Given the description of an element on the screen output the (x, y) to click on. 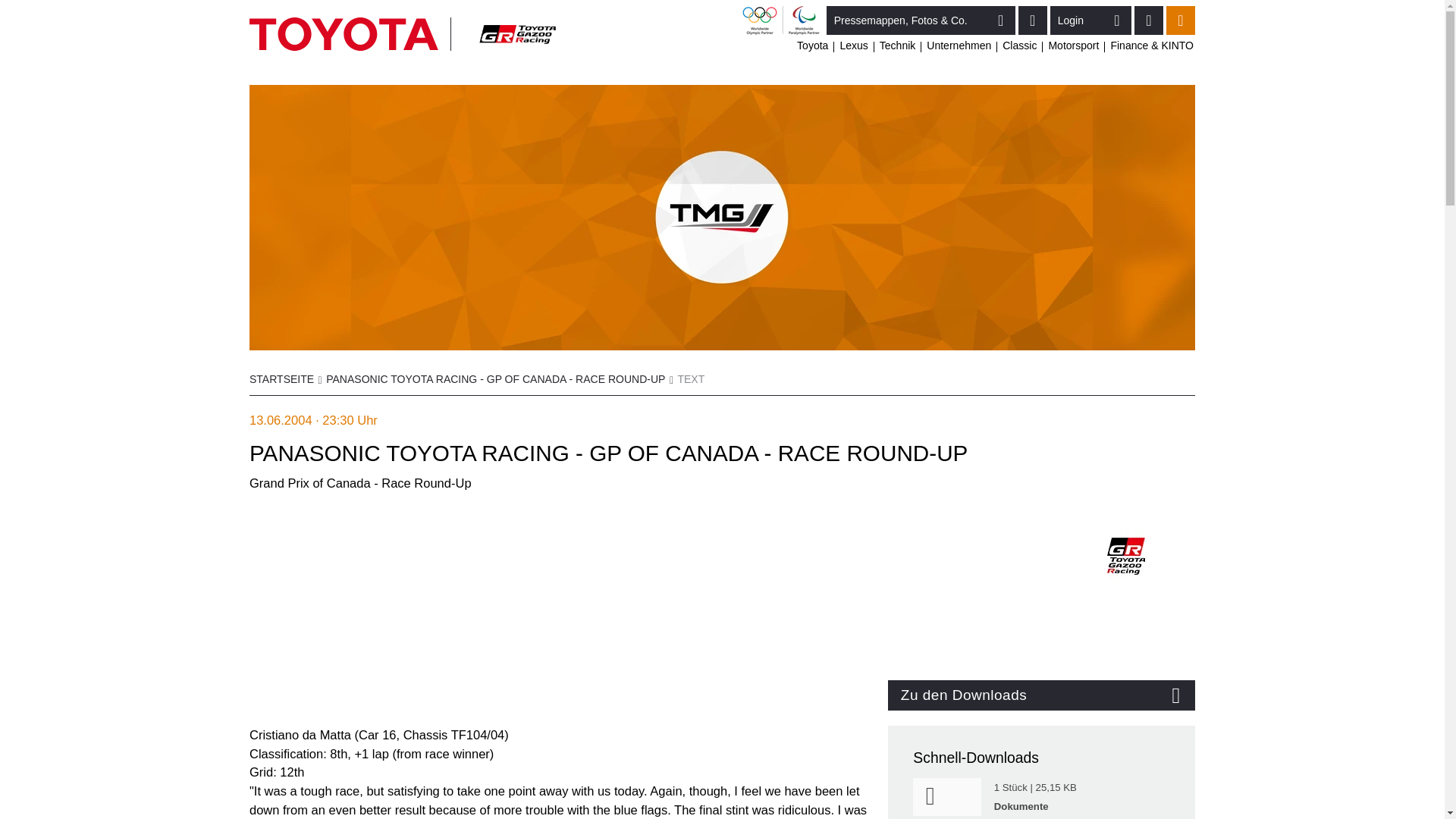
STARTSEITE (281, 380)
TEXT (690, 380)
Technik (897, 45)
PANASONIC TOYOTA RACING - GP OF CANADA - RACE ROUND-UP (495, 380)
Unternehmen (958, 45)
Classic (1019, 45)
Lexus (853, 45)
Motorsport (1073, 45)
Toyota (812, 45)
Kontakt (1148, 20)
Zu den Downloads (1041, 695)
Login (1090, 20)
Zur Newsletter Anmeldung (1031, 20)
